Given the description of an element on the screen output the (x, y) to click on. 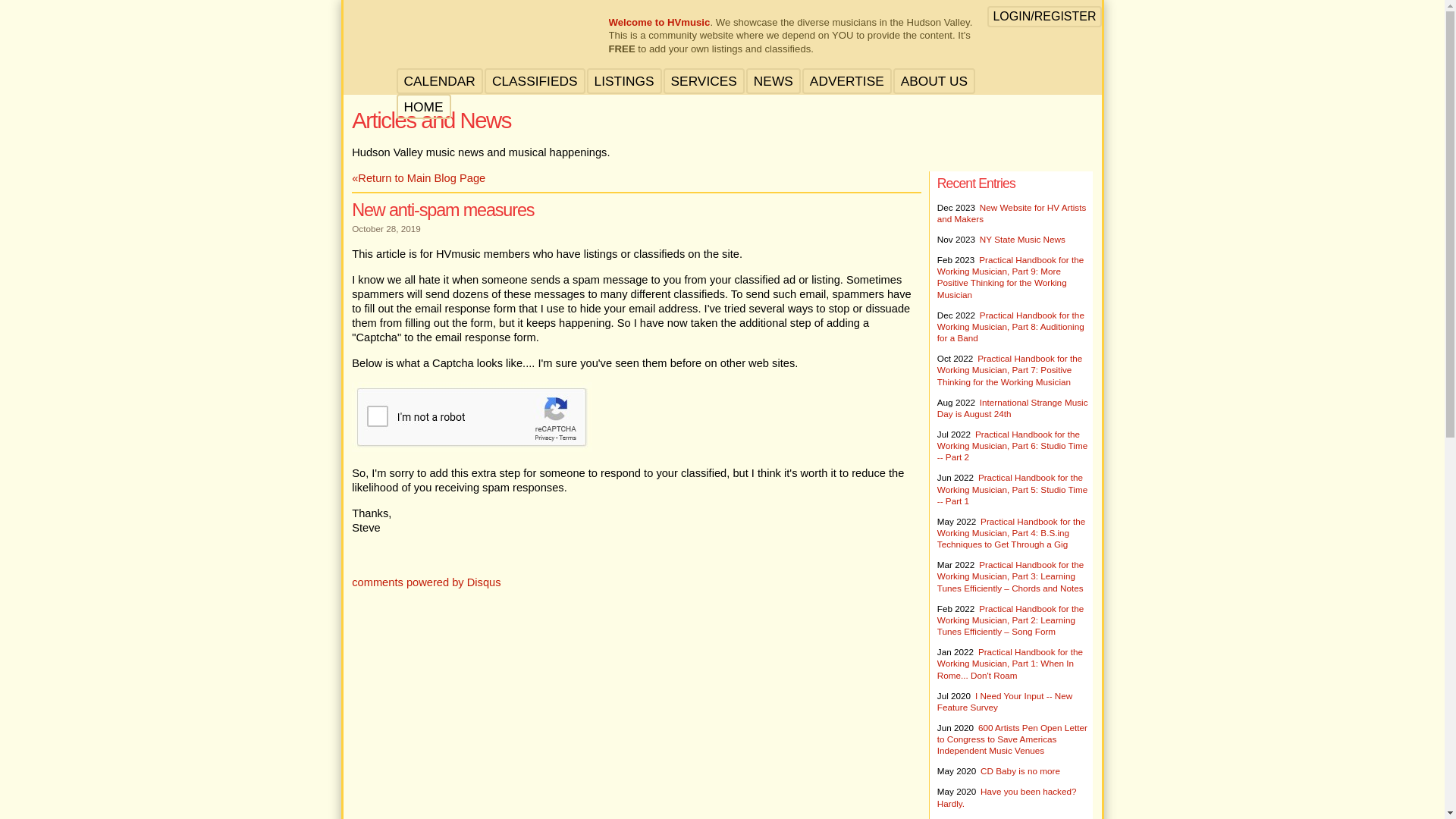
LISTINGS (623, 81)
CLASSIFIEDS (535, 81)
HOME (422, 107)
CALENDAR (438, 81)
SERVICES (703, 81)
